Given the description of an element on the screen output the (x, y) to click on. 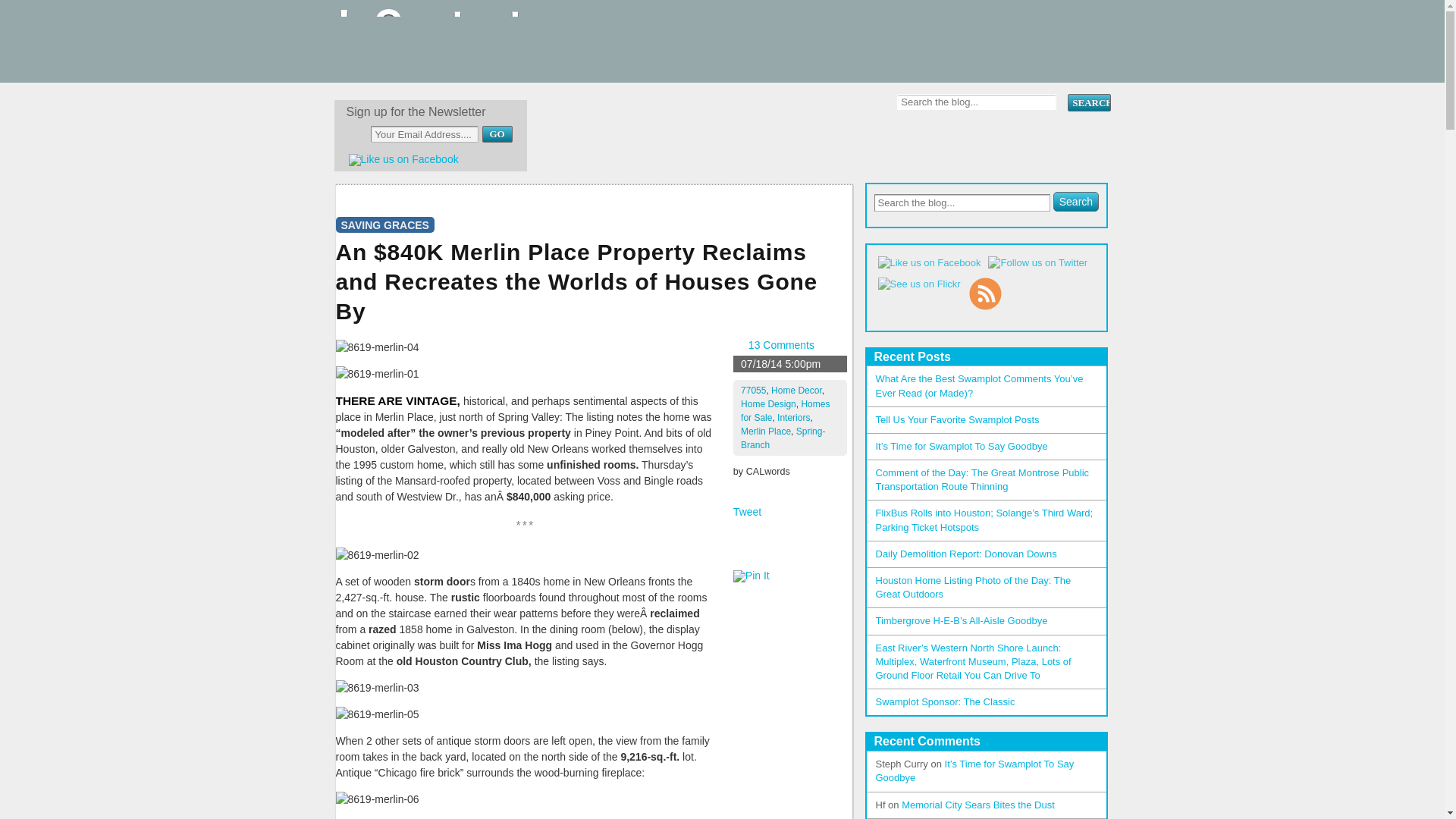
Home Design (768, 403)
Swamplot (437, 67)
77055 (753, 389)
13 Comments (780, 345)
Homes for Sale (785, 410)
Search (1088, 102)
Search (1074, 201)
Like us on Facebook (403, 160)
Home Decor (796, 389)
Spring-Branch (783, 437)
